Given the description of an element on the screen output the (x, y) to click on. 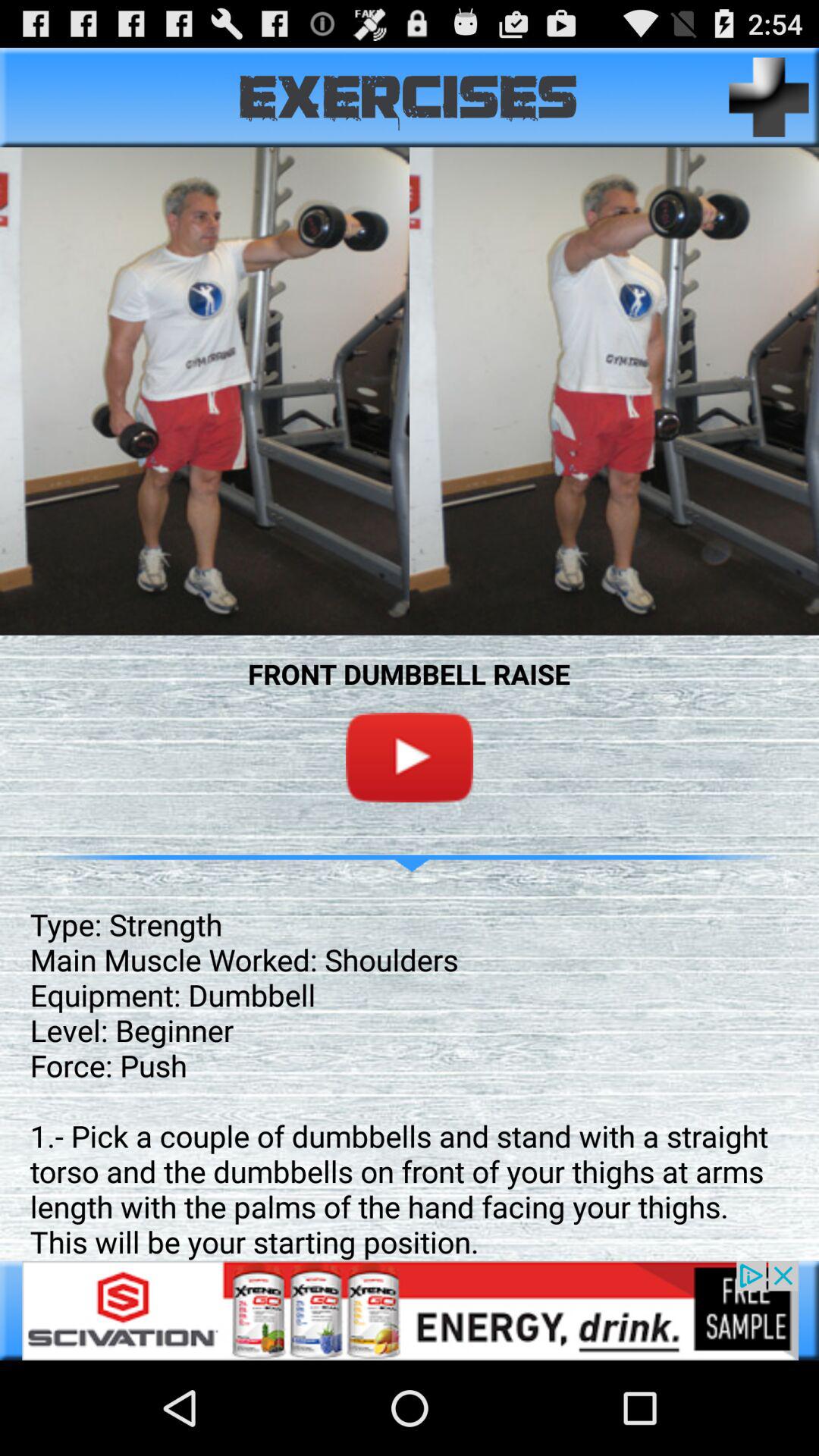
youtube (409, 757)
